Given the description of an element on the screen output the (x, y) to click on. 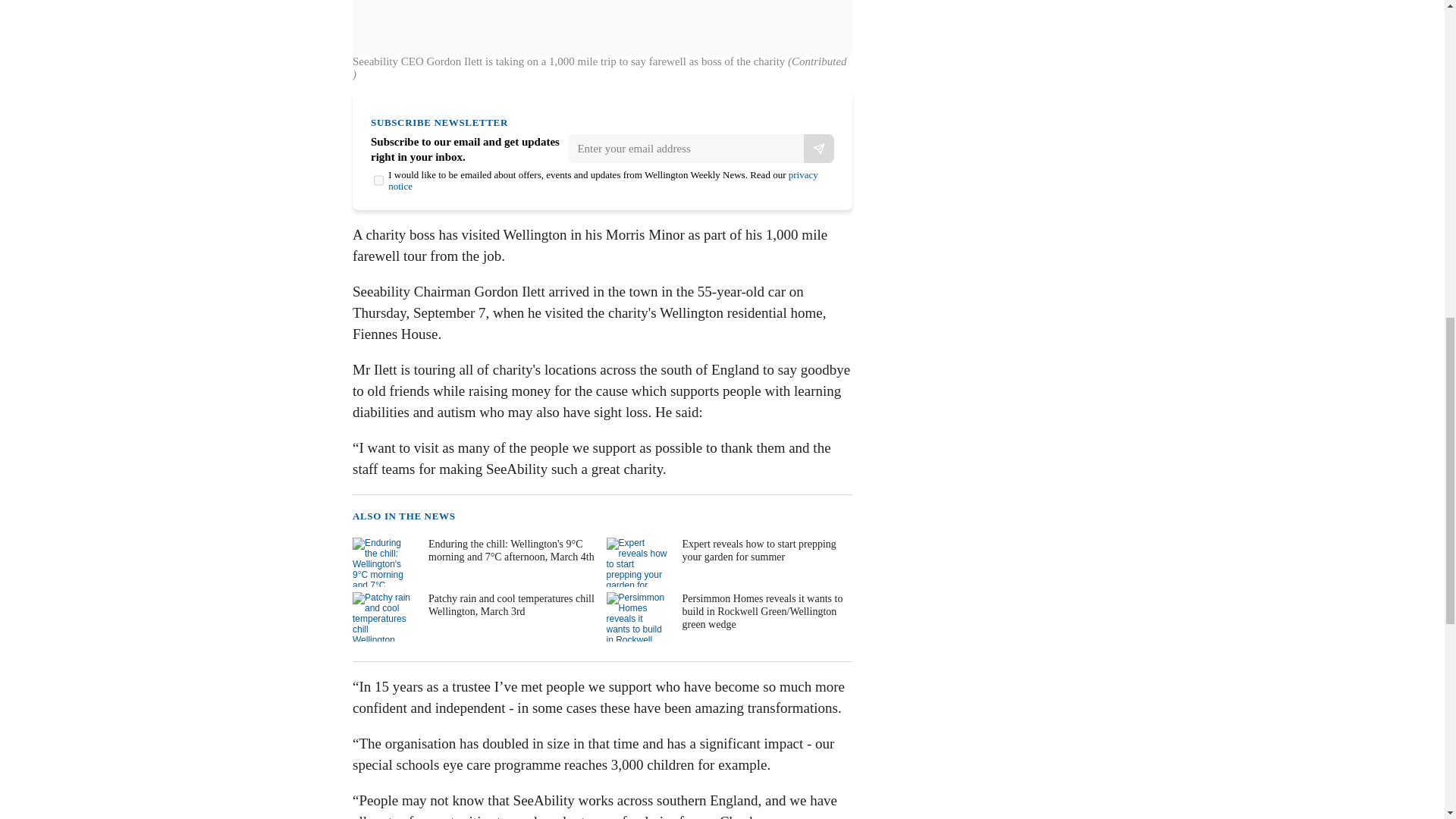
Expert reveals how to start prepping your garden for summer (727, 562)
privacy notice (603, 179)
